Given the description of an element on the screen output the (x, y) to click on. 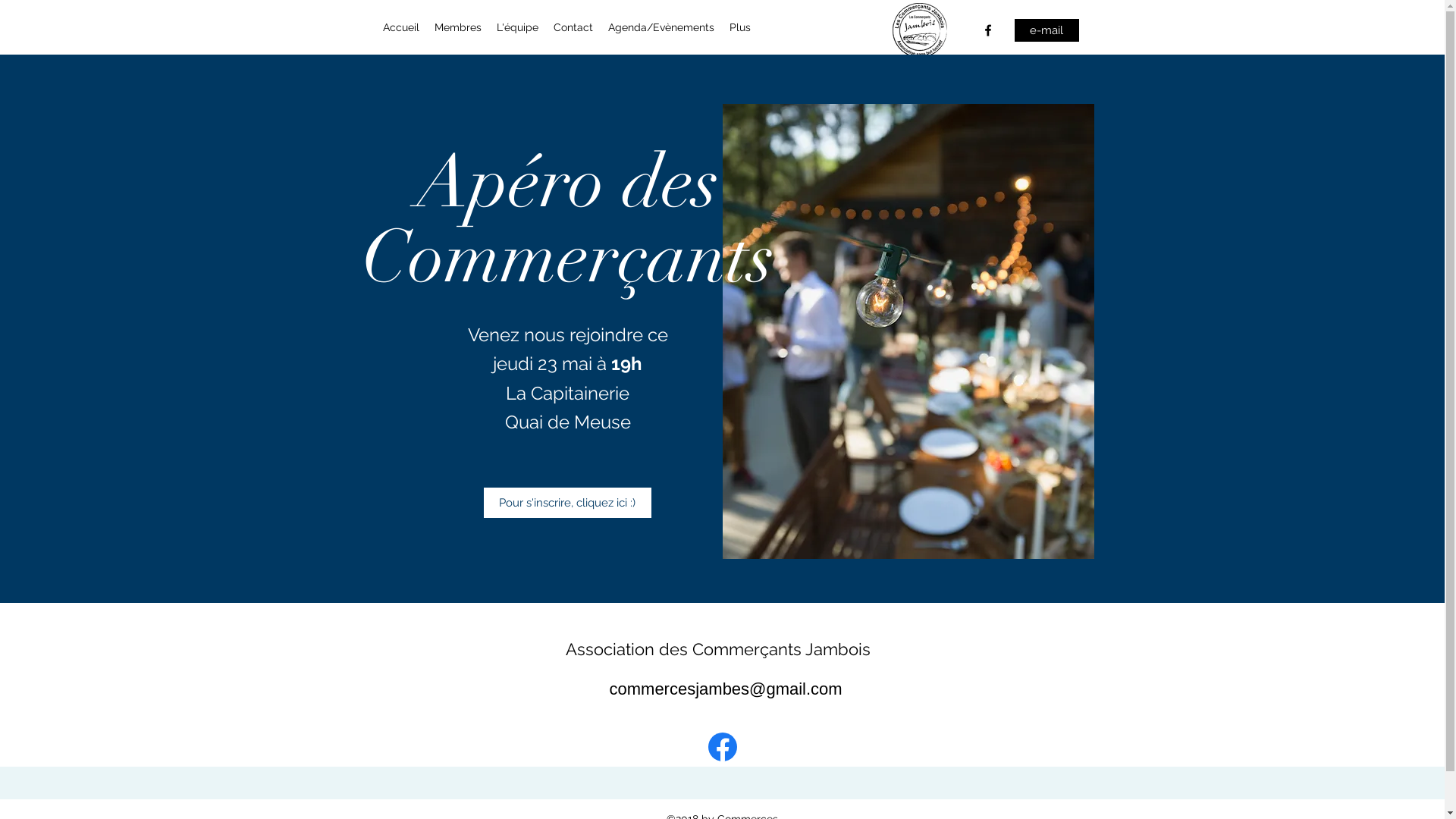
Contact Element type: text (573, 26)
Pour s'inscrire, cliquez ici :) Element type: text (567, 502)
e-mail Element type: text (1046, 29)
Accueil Element type: text (400, 26)
commercesjambes@gmail.com Element type: text (725, 688)
Membres Element type: text (457, 26)
